Given the description of an element on the screen output the (x, y) to click on. 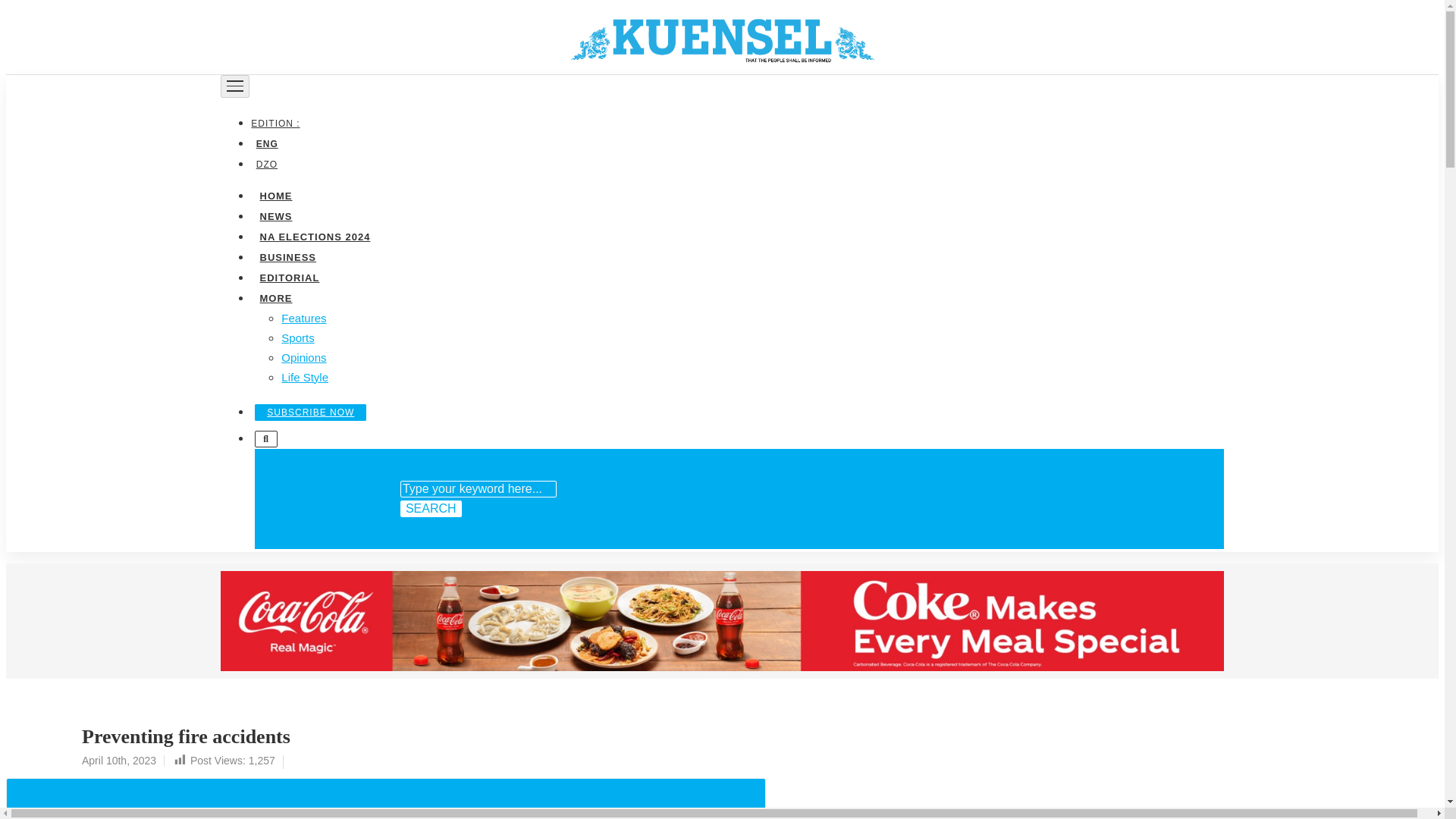
HOME (274, 194)
Features (303, 317)
Opinions (303, 356)
SEARCH (430, 508)
EDITORIAL (288, 276)
EDITION : (277, 122)
BUSINESS (287, 256)
NEWS (274, 215)
Sports (297, 336)
Life Style (305, 376)
ENG (266, 143)
NA ELECTIONS 2024 (314, 235)
SUBSCRIBE NOW (310, 411)
MORE (274, 297)
DZO (266, 163)
